Given the description of an element on the screen output the (x, y) to click on. 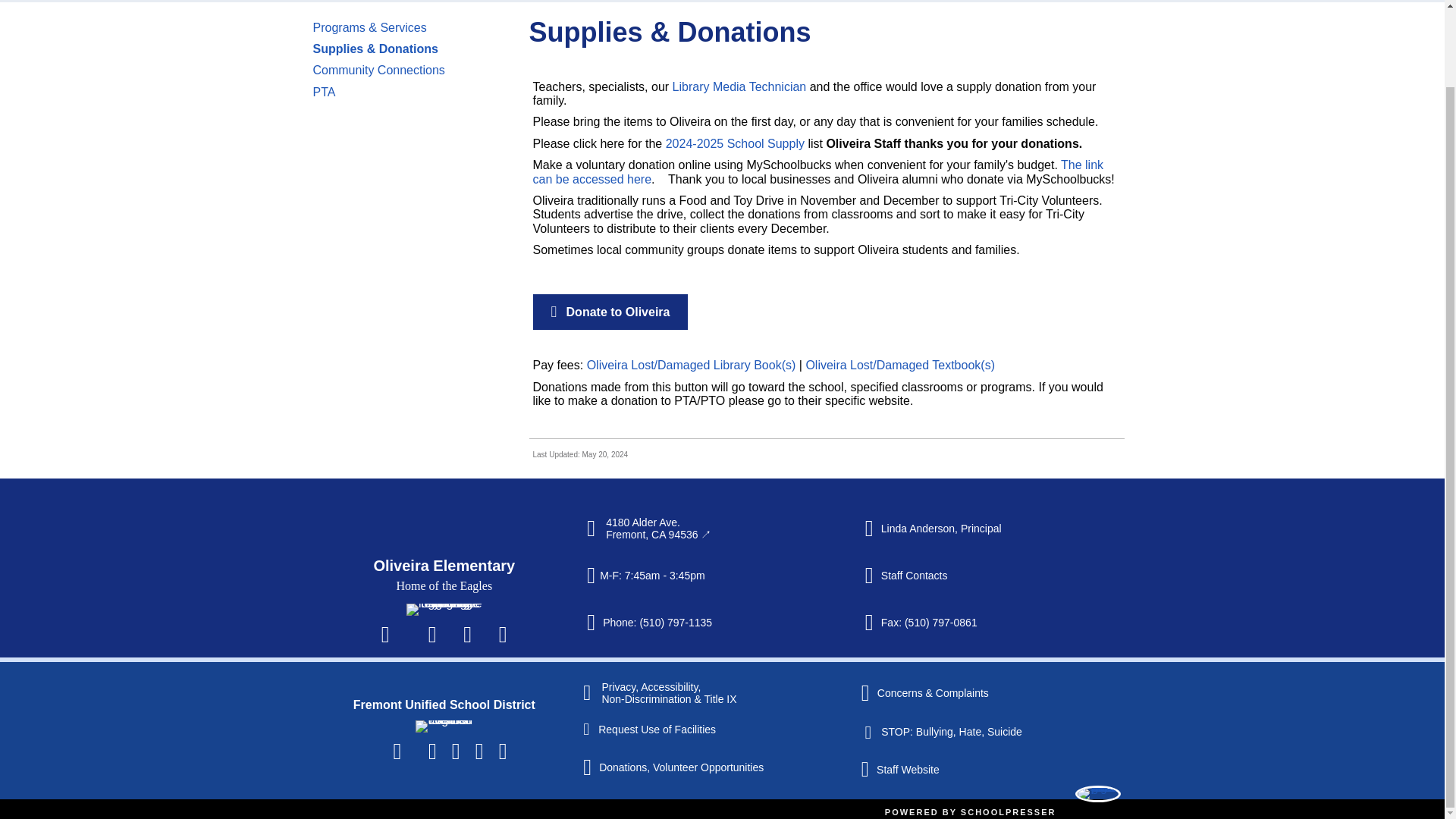
Peachjar (502, 634)
fusd-logo (442, 726)
Oliveira Elementary (443, 565)
oliveira (443, 609)
